Given the description of an element on the screen output the (x, y) to click on. 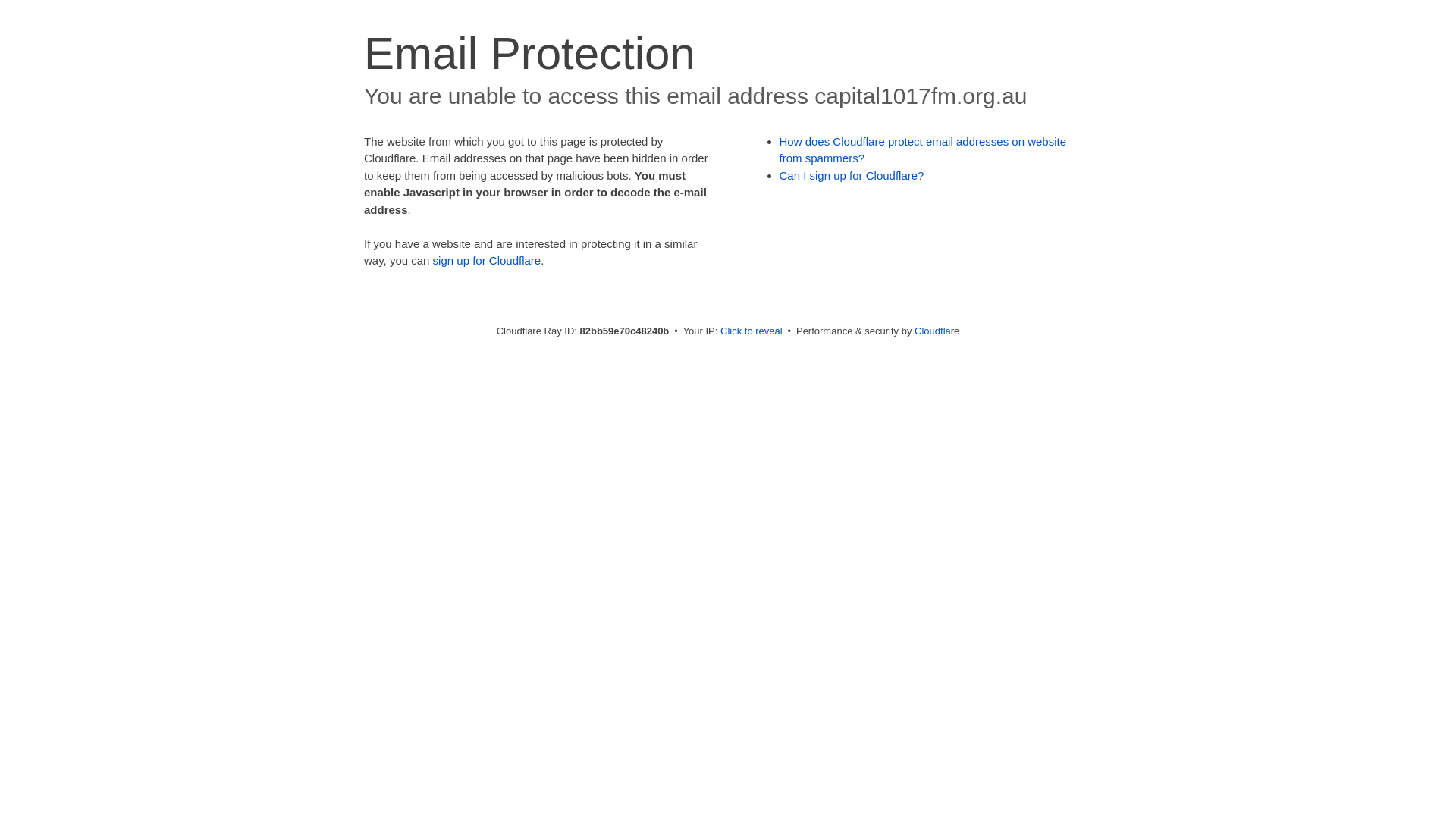
sign up for Cloudflare Element type: text (487, 260)
Click to reveal Element type: text (751, 330)
Can I sign up for Cloudflare? Element type: text (851, 175)
Cloudflare Element type: text (936, 330)
